Given the description of an element on the screen output the (x, y) to click on. 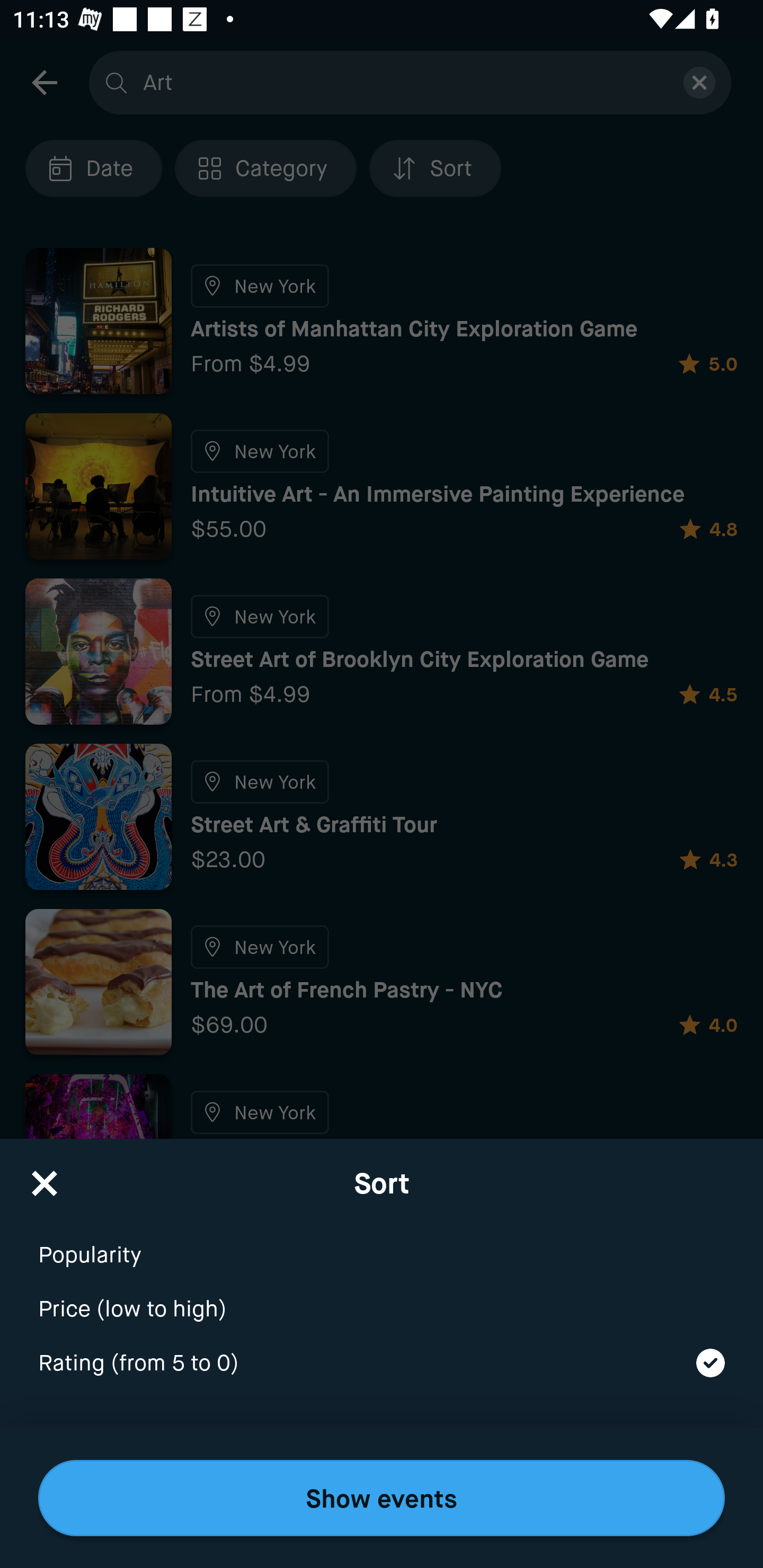
CloseButton (44, 1177)
Popularity (381, 1243)
Price (low to high) (381, 1297)
Rating (from 5 to 0) Selected Icon (381, 1362)
Show events (381, 1497)
